Given the description of an element on the screen output the (x, y) to click on. 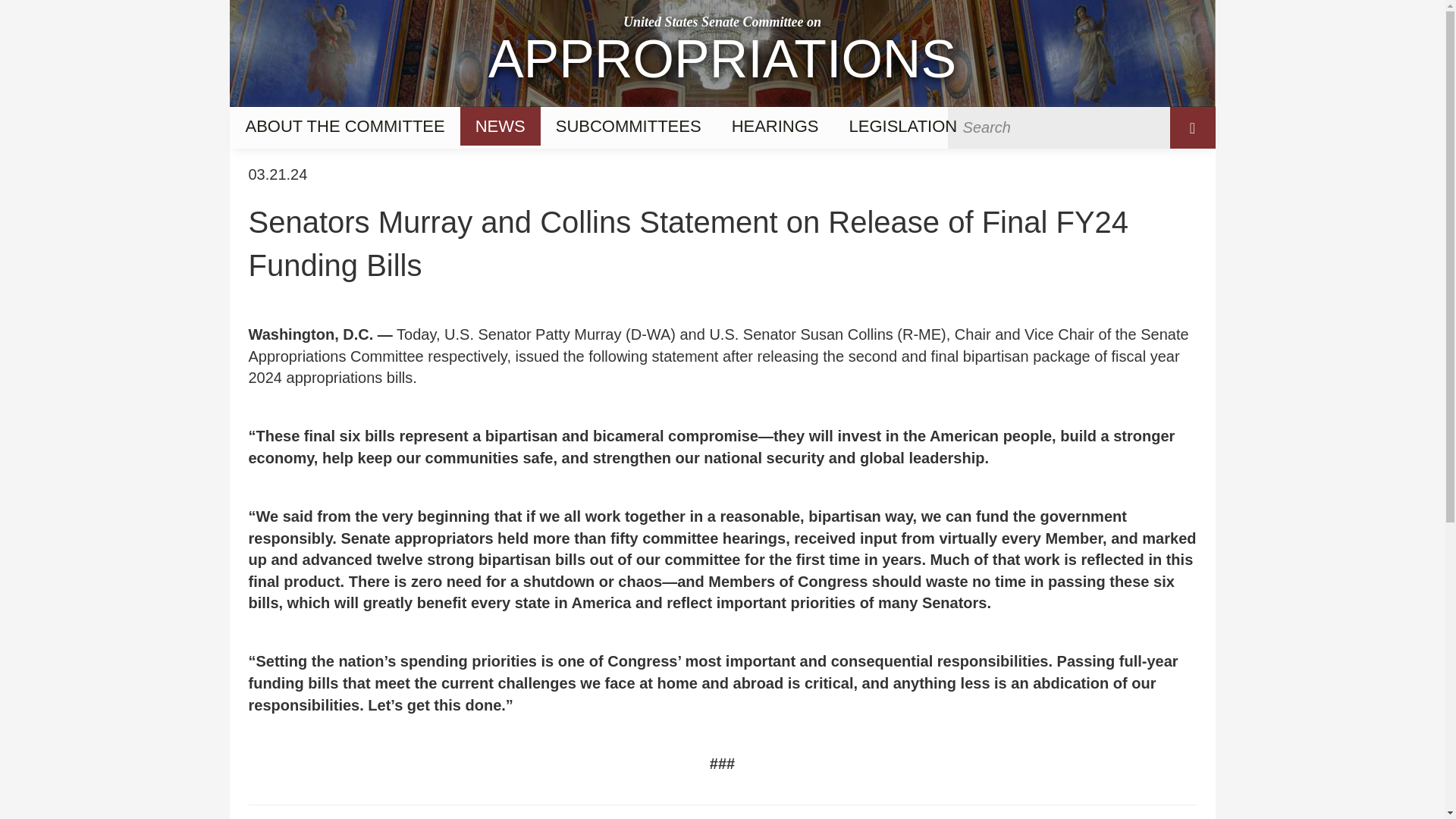
NEWS (500, 126)
ABOUT THE COMMITTEE (721, 53)
